Given the description of an element on the screen output the (x, y) to click on. 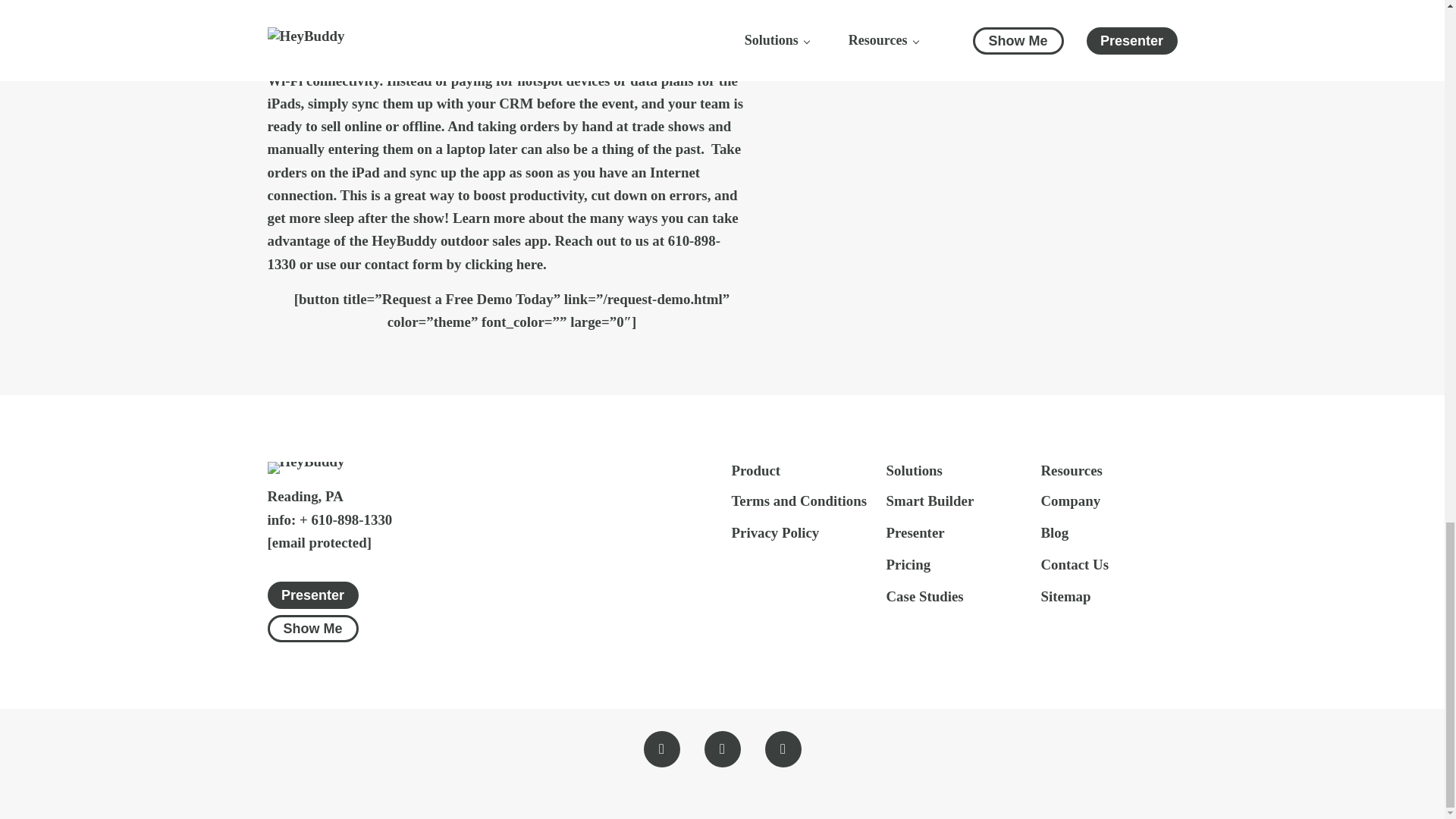
clicking here (503, 263)
Smart Builder (929, 501)
Presenter (312, 595)
Show Me (312, 628)
Company (1070, 501)
Case Studies (923, 597)
Pricing (907, 565)
Terms and Conditions (798, 501)
Sitemap (1065, 597)
Blog (1054, 533)
